Given the description of an element on the screen output the (x, y) to click on. 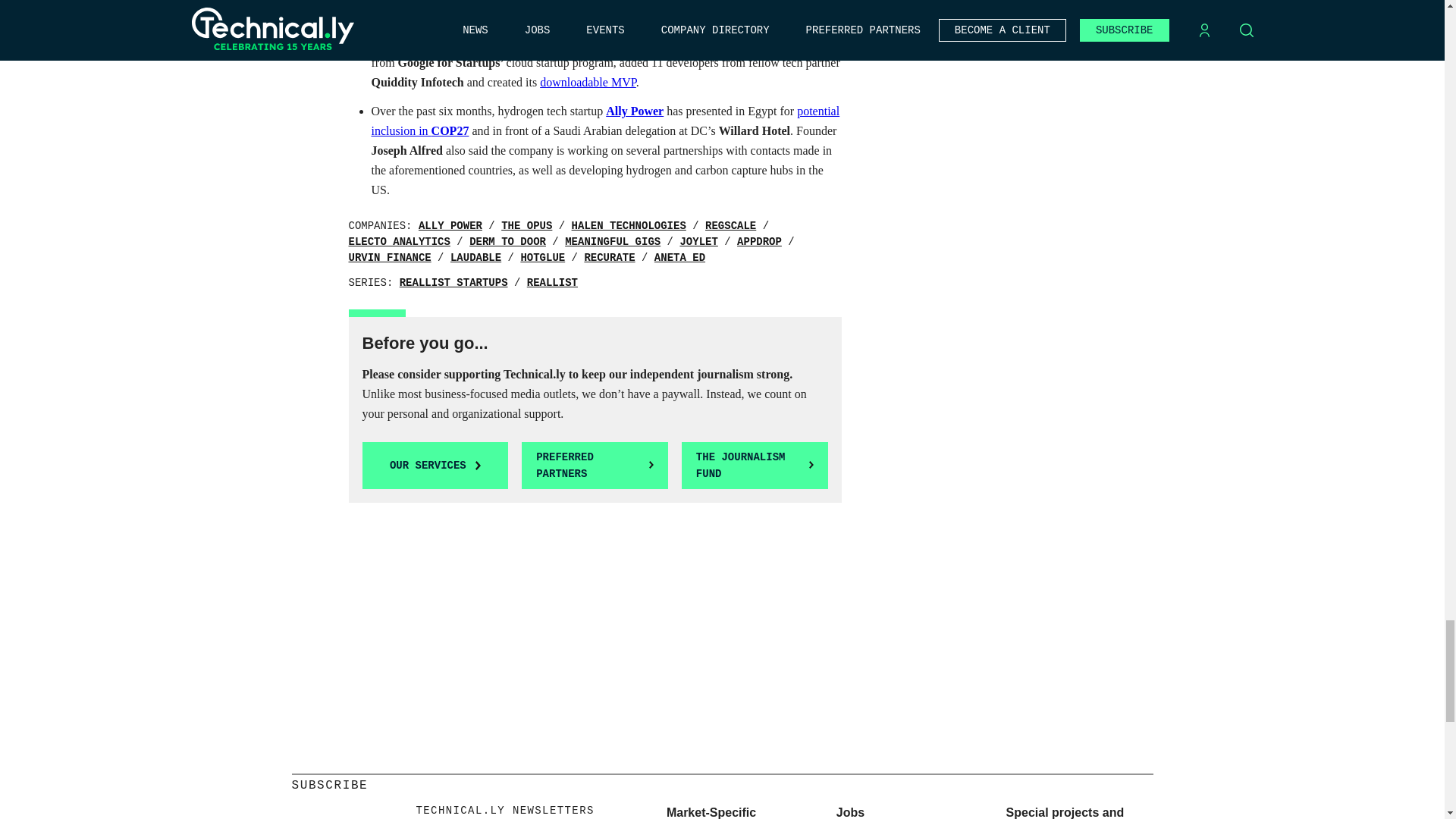
The Opus (525, 225)
Ally Power (450, 225)
Halen Technologies (628, 225)
